Given the description of an element on the screen output the (x, y) to click on. 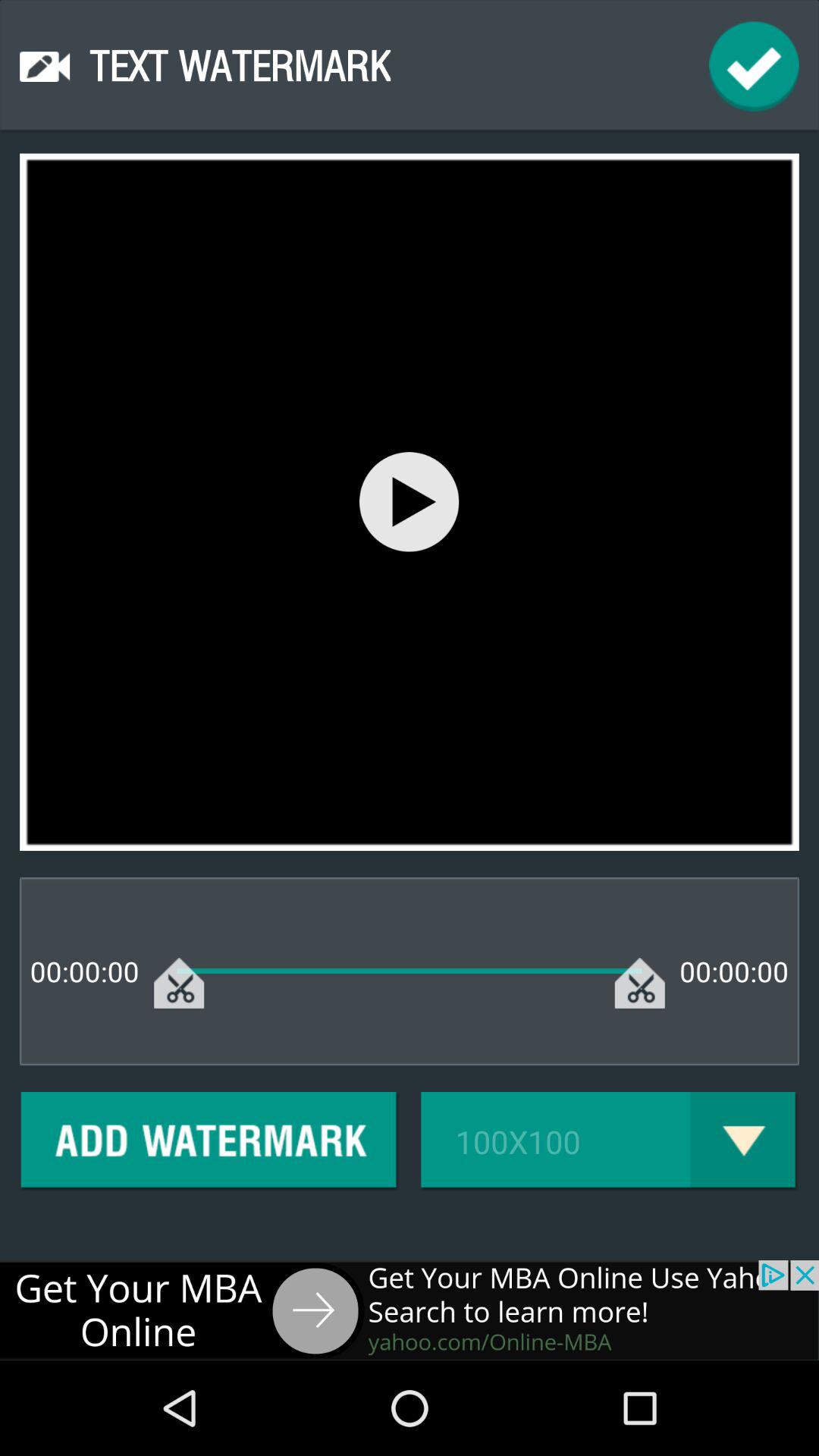
save progress (754, 66)
